Given the description of an element on the screen output the (x, y) to click on. 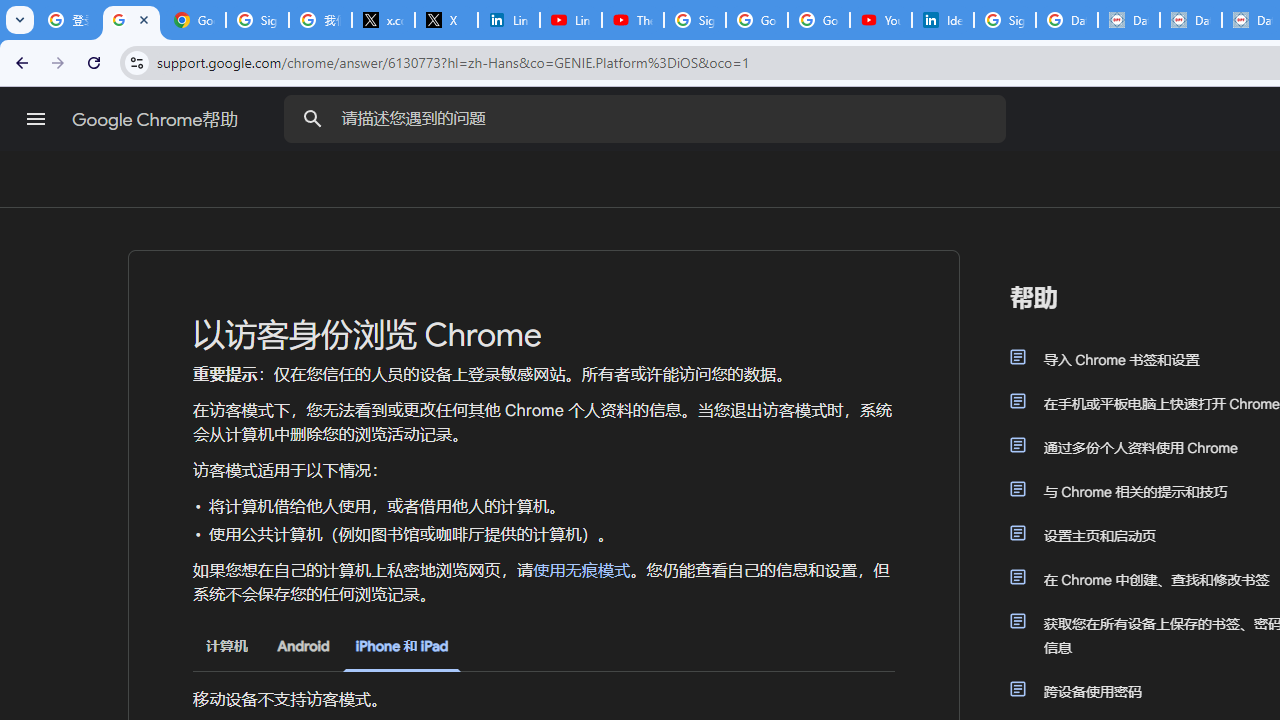
LinkedIn Privacy Policy (508, 20)
Data Privacy Framework (1128, 20)
